Given the description of an element on the screen output the (x, y) to click on. 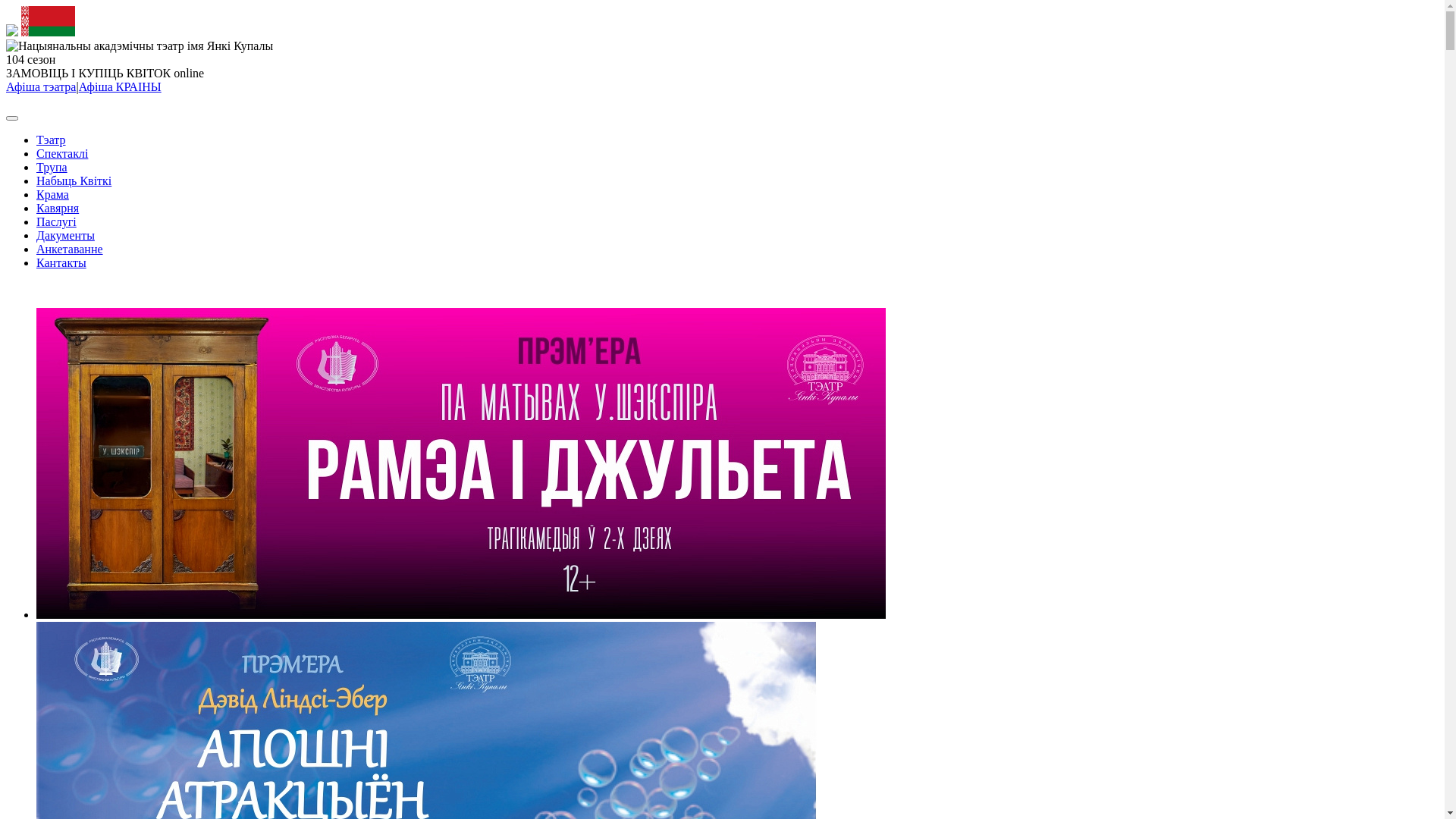
In English Element type: text (31, 288)
In English Element type: text (31, 100)
